Given the description of an element on the screen output the (x, y) to click on. 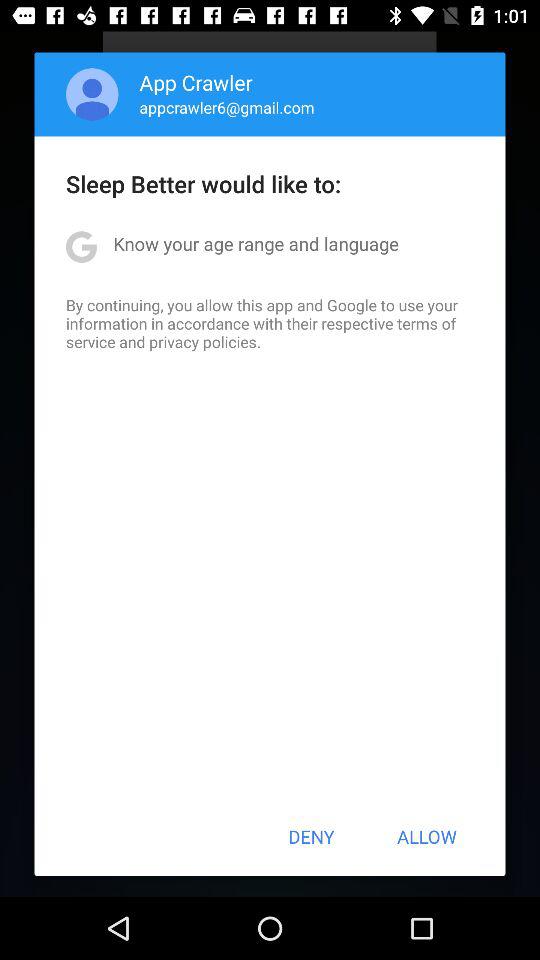
jump to appcrawler6@gmail.com item (226, 107)
